Given the description of an element on the screen output the (x, y) to click on. 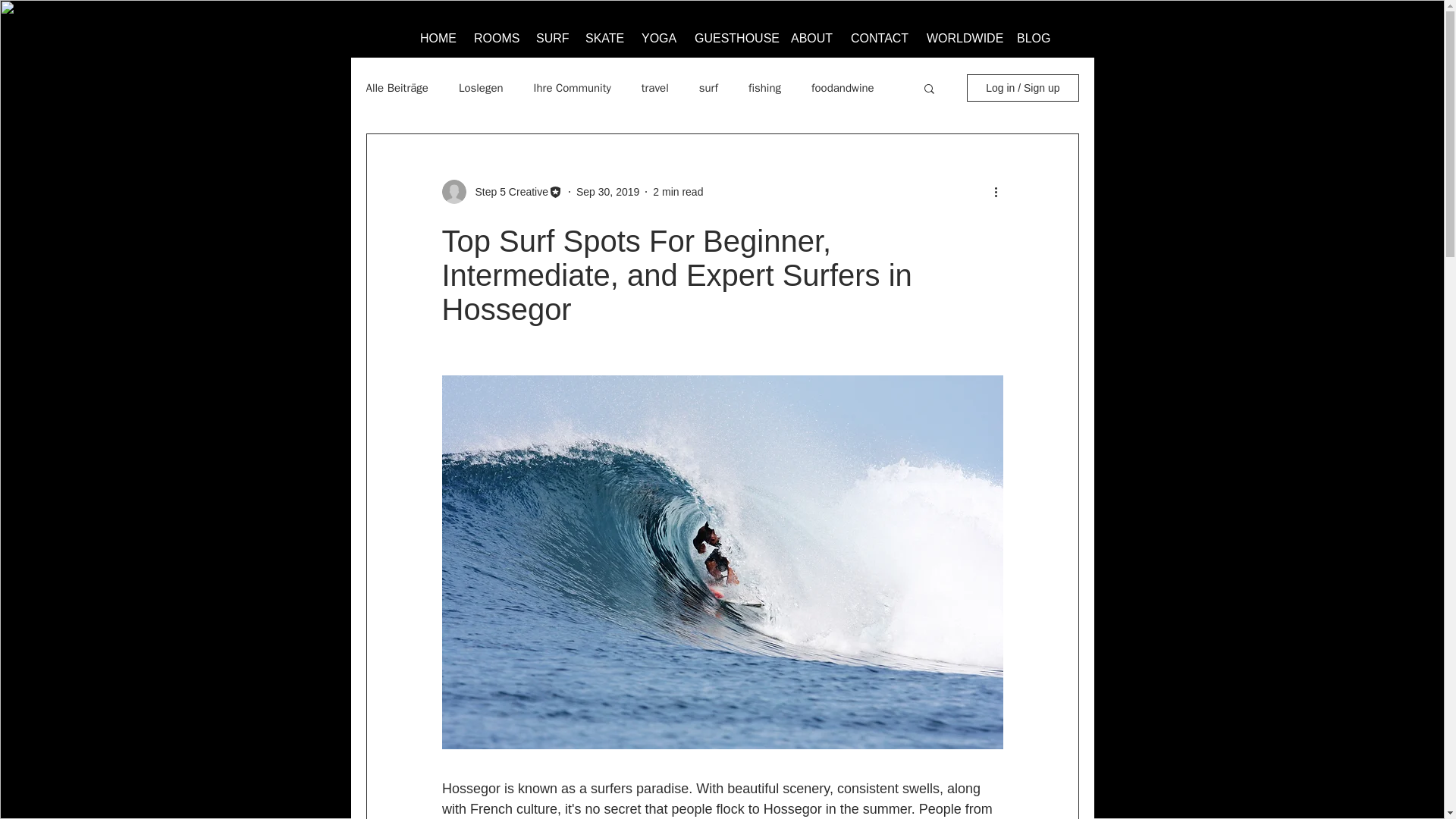
SURF (550, 31)
surf (707, 87)
Sep 30, 2019 (607, 191)
ABOUT (810, 31)
foodandwine (842, 87)
GUESTHOUSE (732, 31)
WORLDWIDE (962, 31)
SKATE (603, 31)
Ihre Community (572, 87)
HOME (437, 31)
